Given the description of an element on the screen output the (x, y) to click on. 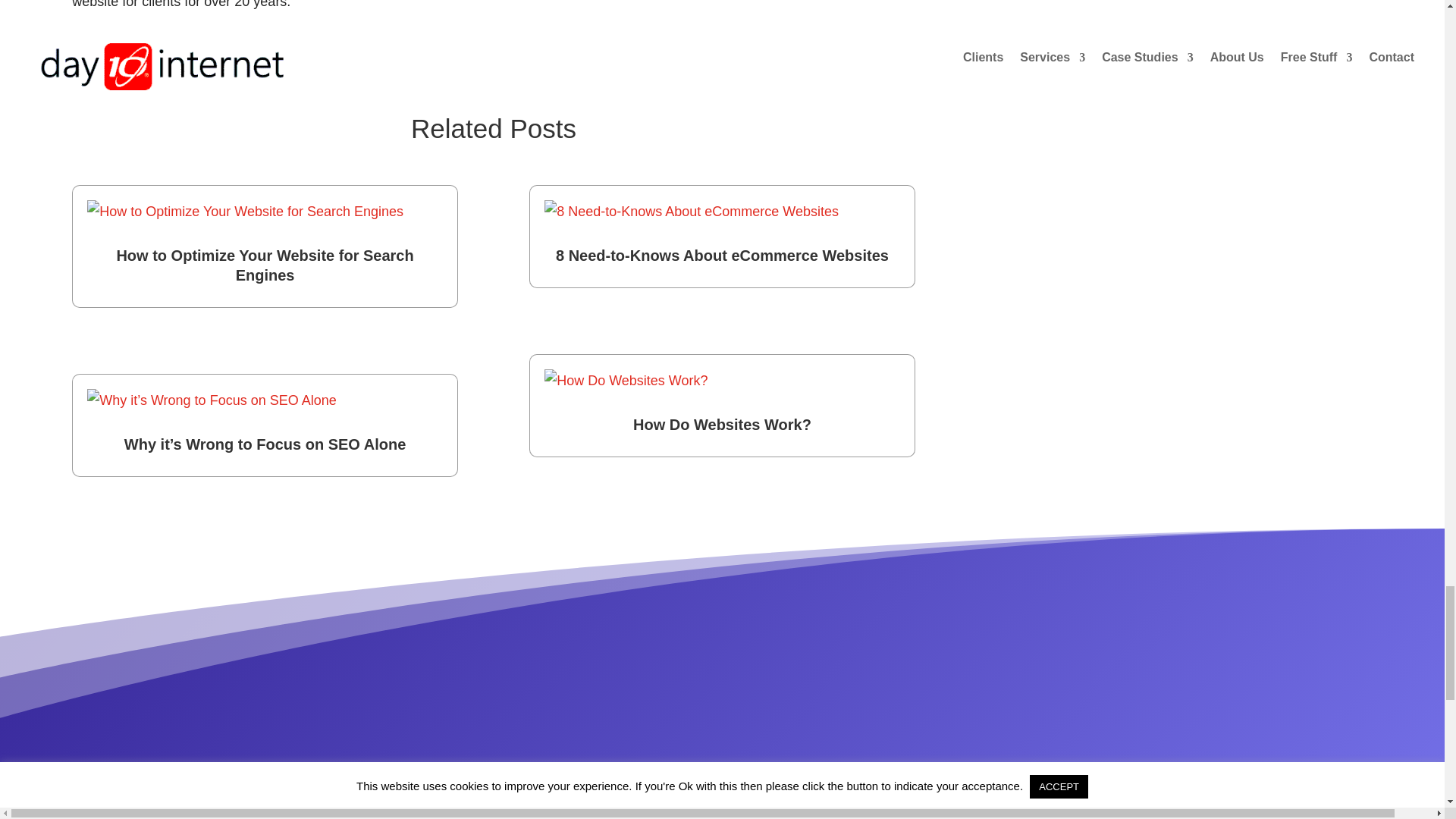
Follow on X (113, 60)
Follow on LinkedIn (144, 60)
Follow on Facebook (83, 60)
